Given the description of an element on the screen output the (x, y) to click on. 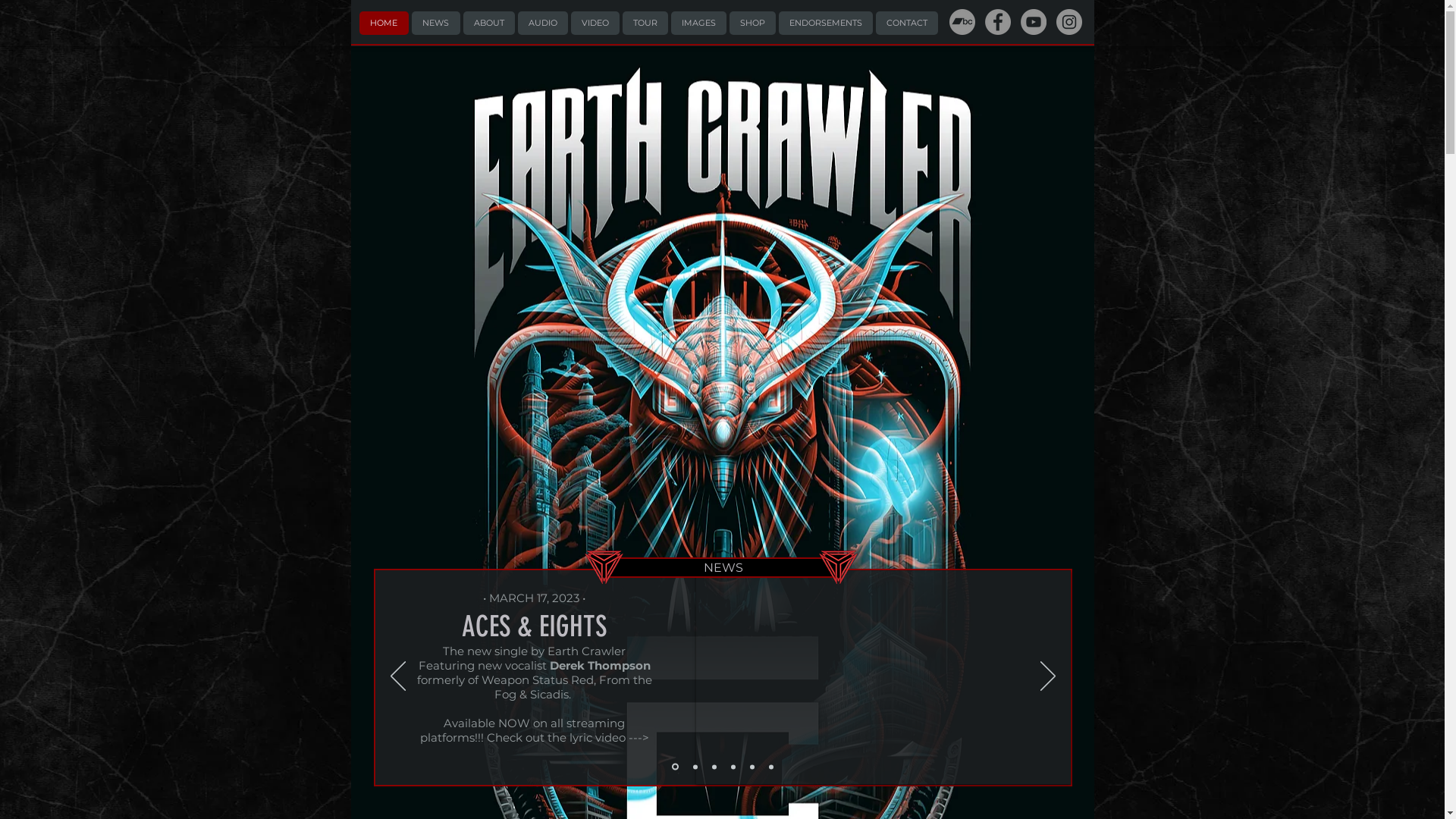
VIDEO Element type: text (594, 22)
IMAGES Element type: text (697, 22)
AUDIO Element type: text (542, 22)
SHOP Element type: text (752, 22)
CONTACT Element type: text (906, 22)
ENDORSEMENTS Element type: text (825, 22)
TOUR Element type: text (644, 22)
ABOUT Element type: text (488, 22)
NEWS Element type: text (435, 22)
HOME Element type: text (383, 22)
